Given the description of an element on the screen output the (x, y) to click on. 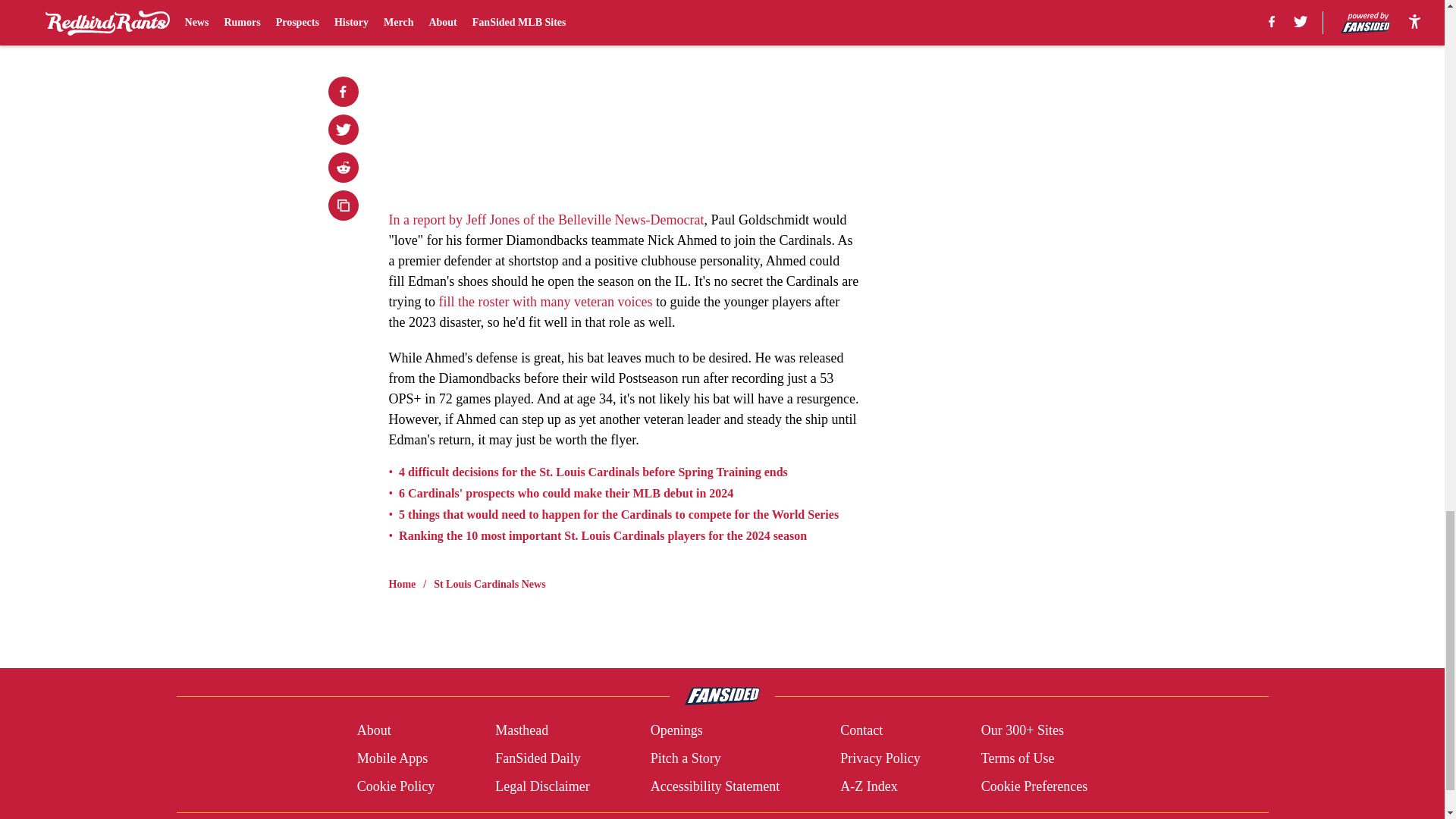
Mobile Apps (392, 758)
Masthead (521, 730)
St Louis Cardinals News (488, 584)
fill the roster with many veteran voices (545, 301)
Contact (861, 730)
Openings (676, 730)
Home (401, 584)
About (373, 730)
In a report by Jeff Jones of the Belleville News-Democrat (545, 219)
